Given the description of an element on the screen output the (x, y) to click on. 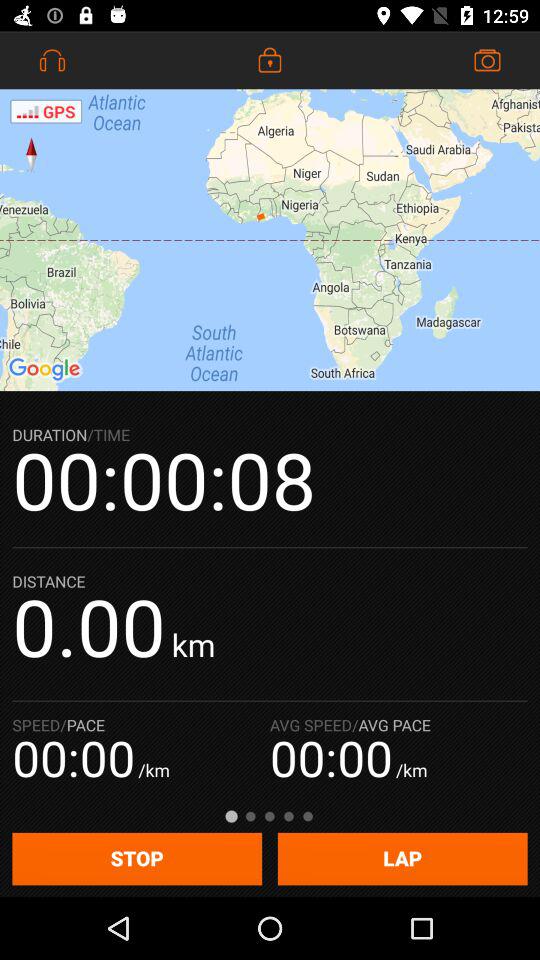
launch the lap icon (402, 858)
